Given the description of an element on the screen output the (x, y) to click on. 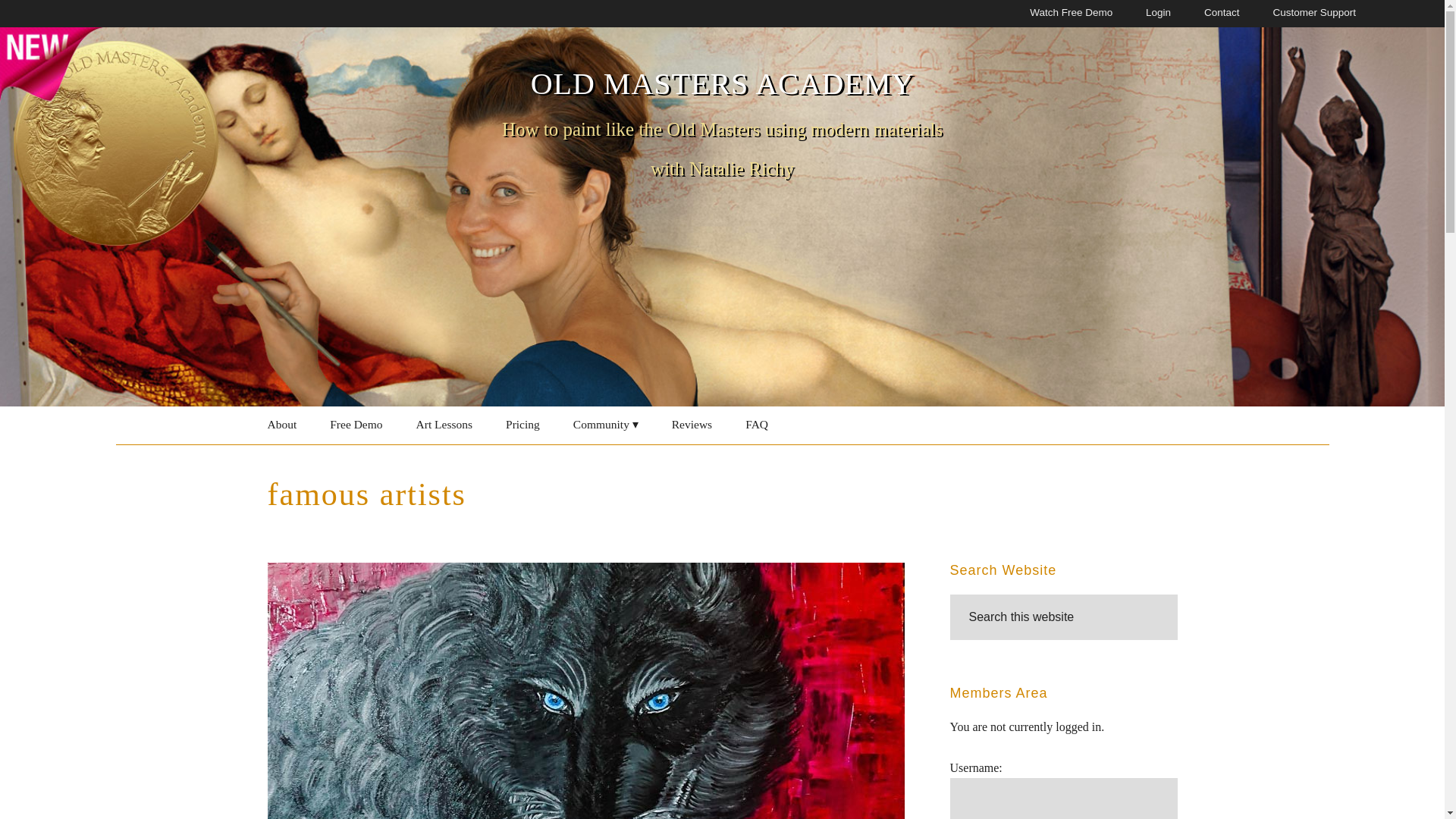
Reviews (691, 425)
OLD MASTERS ACADEMY (722, 83)
Contact (1222, 13)
Login (1157, 13)
Art Lessons (443, 425)
Free Demo (355, 425)
Customer Support (1313, 13)
